Given the description of an element on the screen output the (x, y) to click on. 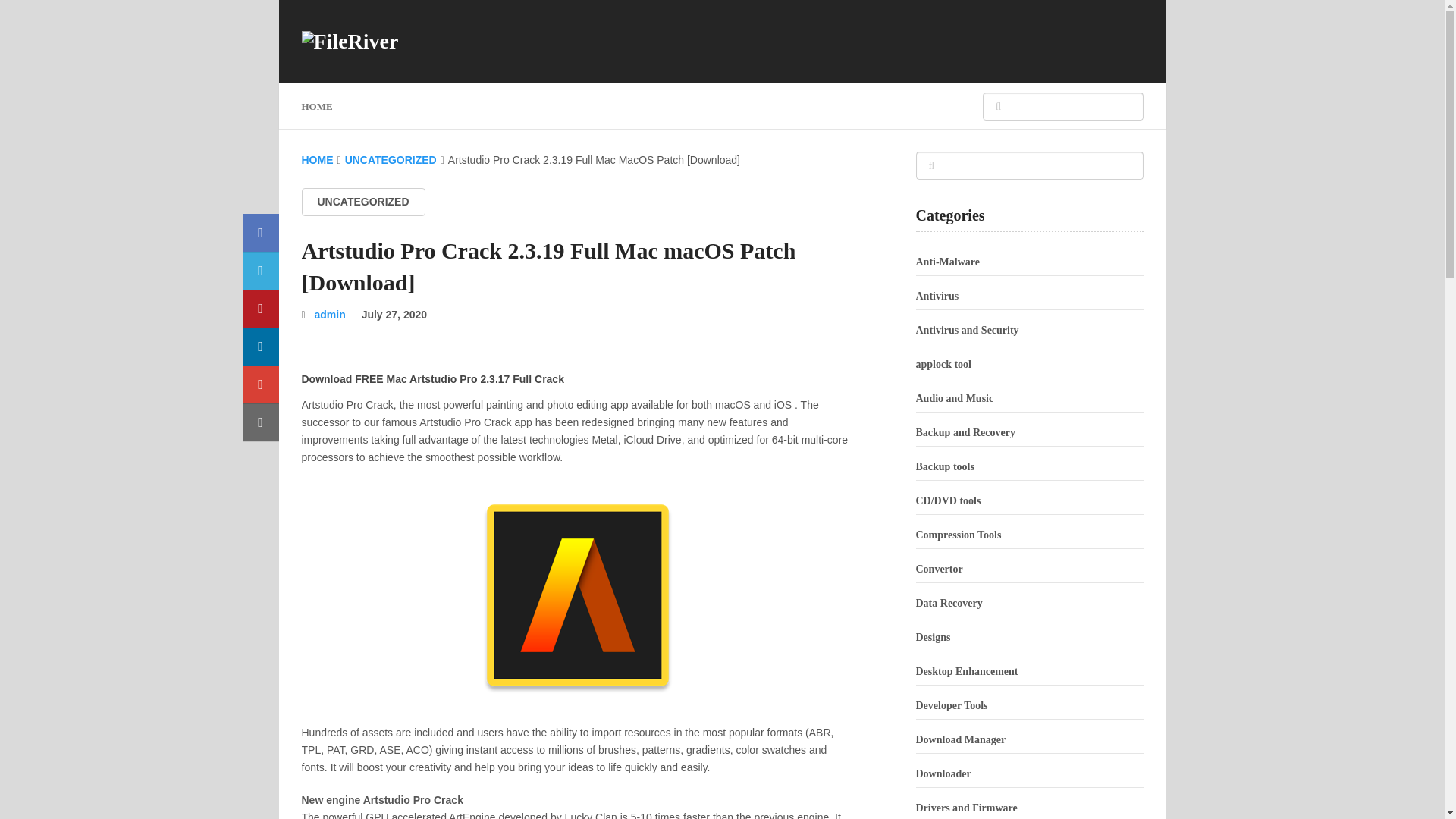
Desktop Enhancement (966, 671)
View all posts in Uncategorized (363, 202)
HOME (317, 159)
Drivers and Firmware (966, 808)
Anti-Malware (947, 261)
Download Crack (578, 357)
Posts by admin (330, 314)
Designs (932, 636)
Backup tools (944, 466)
admin (330, 314)
Download Manager (960, 739)
Audio and Music (954, 398)
Antivirus and Security (967, 329)
UNCATEGORIZED (390, 159)
Convertor (938, 568)
